Given the description of an element on the screen output the (x, y) to click on. 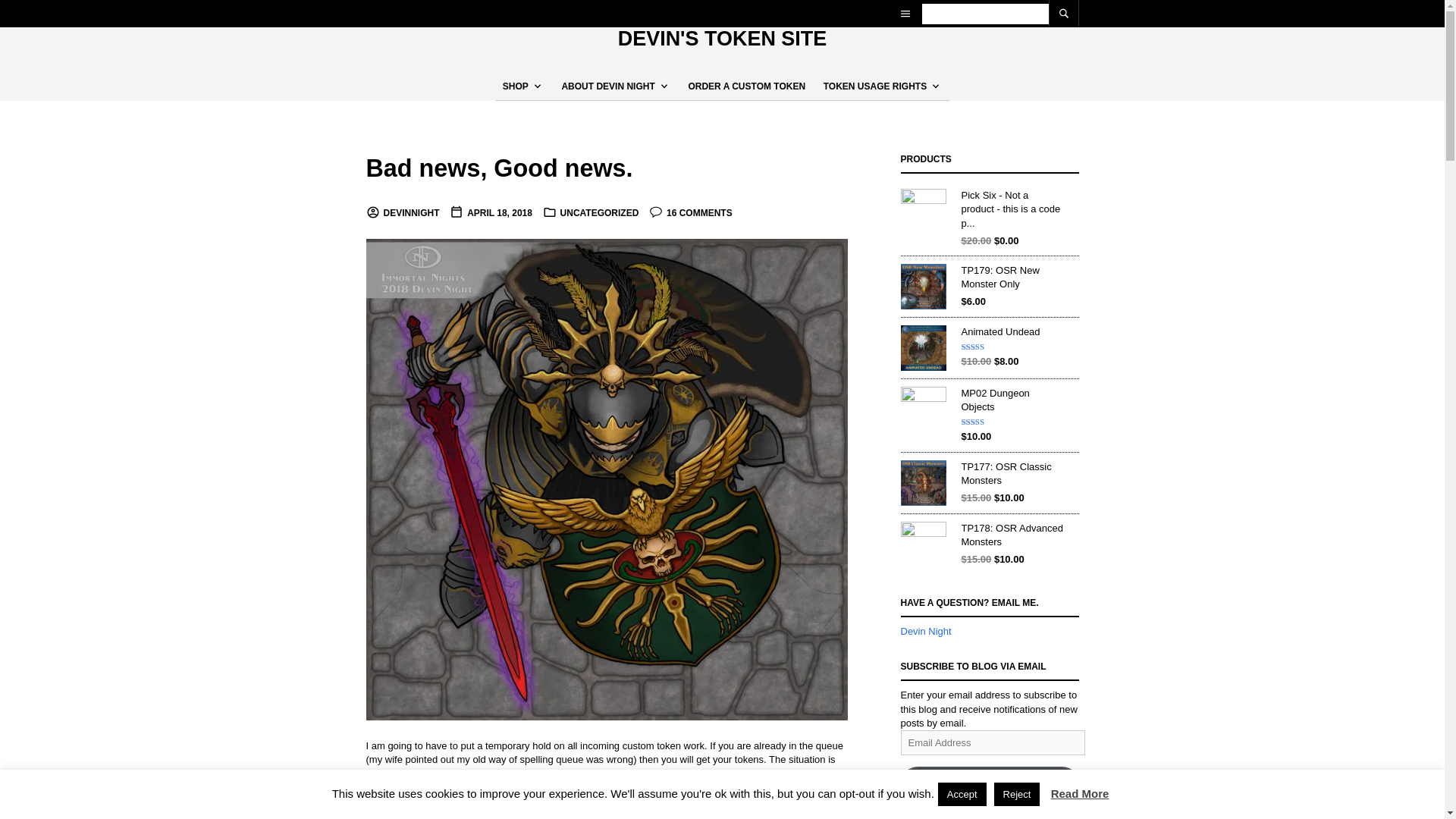
ABOUT DEVIN NIGHT (611, 86)
SHOP (519, 86)
UNCATEGORIZED (599, 213)
APRIL 18, 2018 (490, 213)
ORDER A CUSTOM TOKEN (745, 86)
11:02 pm (490, 213)
DEVIN'S TOKEN SITE (722, 38)
Permalink to Bad news, Good news. (498, 167)
16 COMMENTS (690, 213)
TOKEN USAGE RIGHTS (878, 86)
DEVINNIGHT (402, 213)
Bad news, Good news. (498, 167)
View all posts by devinnight (402, 213)
